Given the description of an element on the screen output the (x, y) to click on. 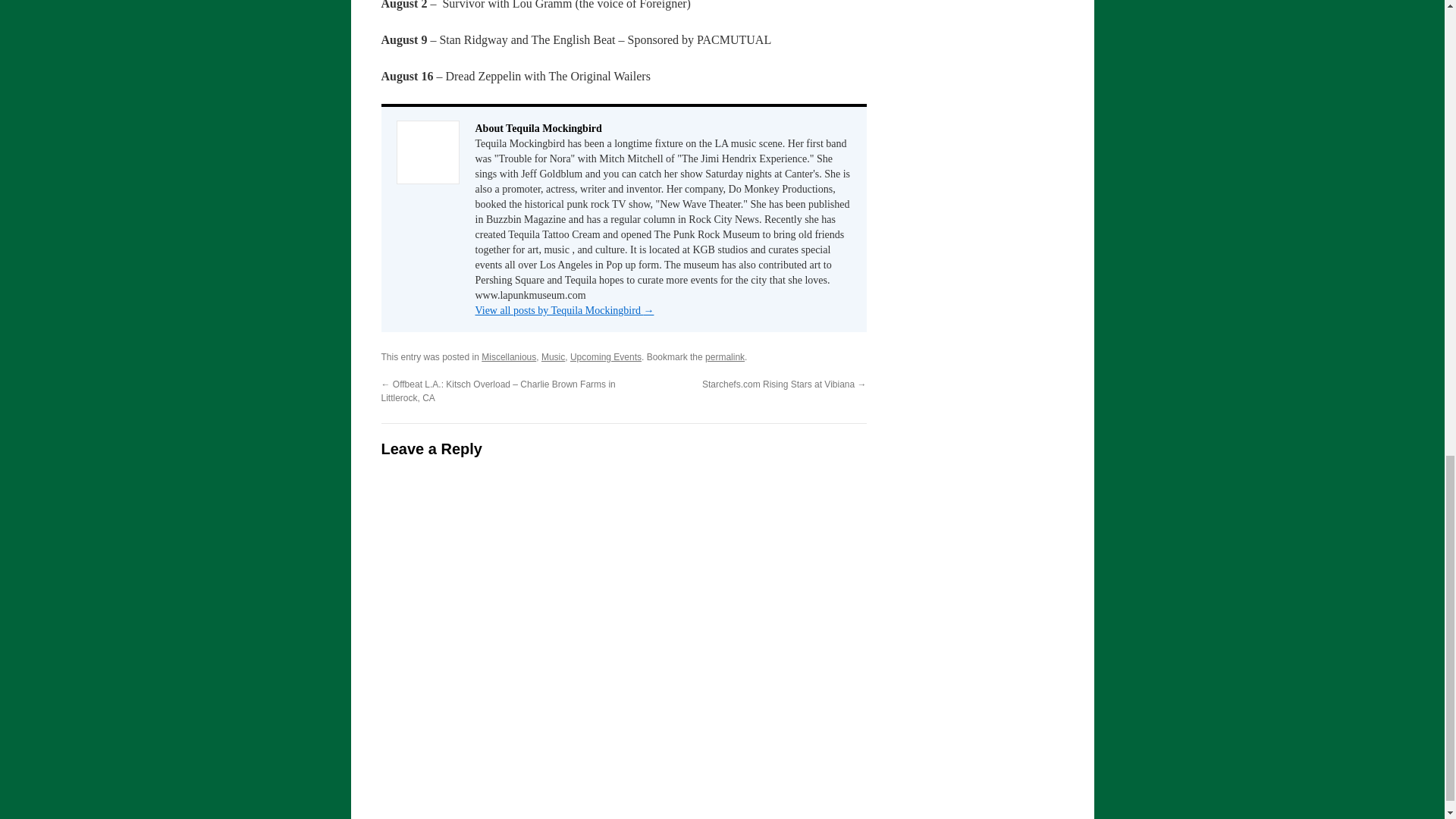
Music (552, 357)
Permalink to Pershing Squared All Summer Long! (724, 357)
Miscellanious (508, 357)
Upcoming Events (606, 357)
permalink (724, 357)
